Given the description of an element on the screen output the (x, y) to click on. 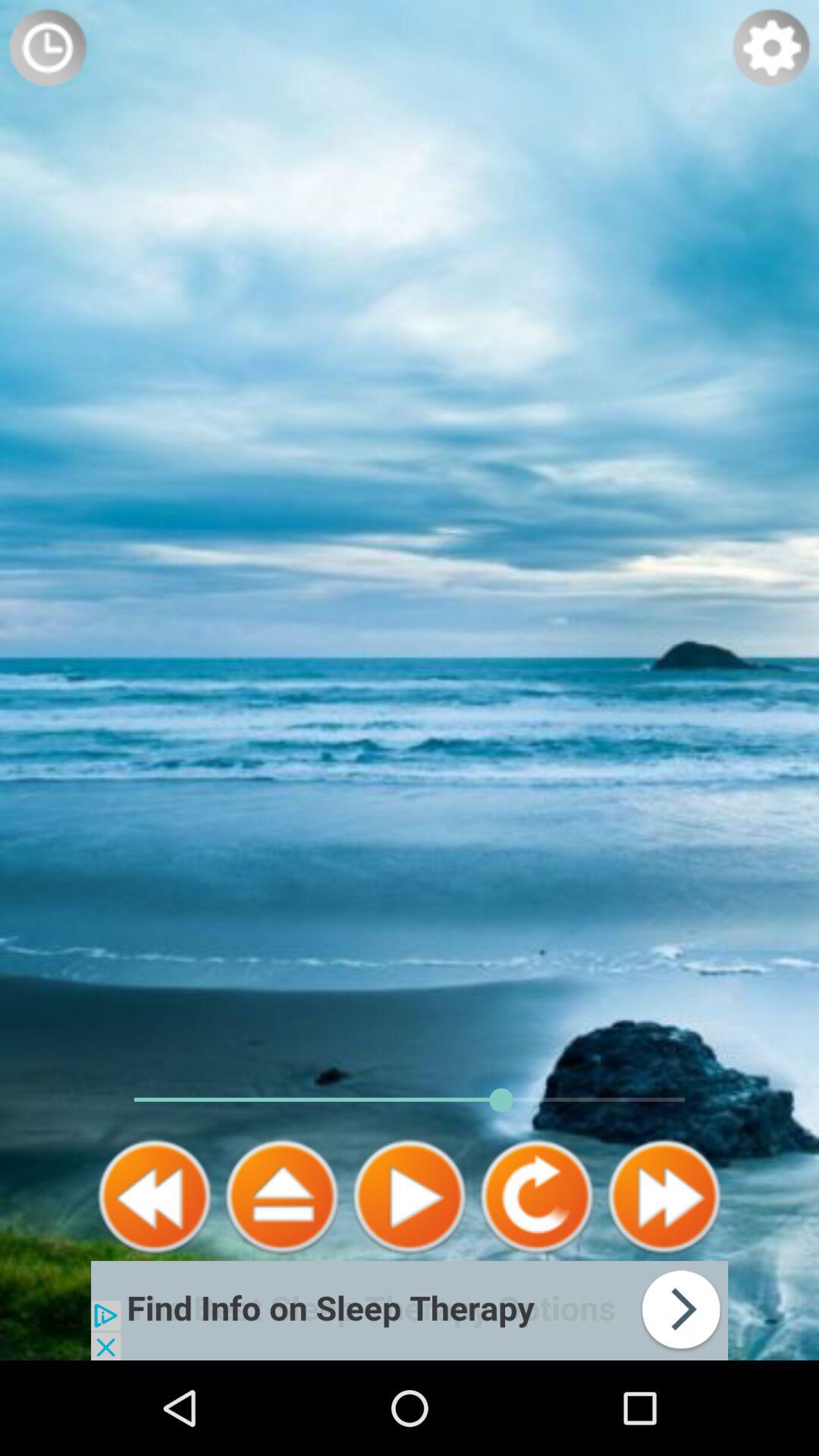
reload (536, 1196)
